Given the description of an element on the screen output the (x, y) to click on. 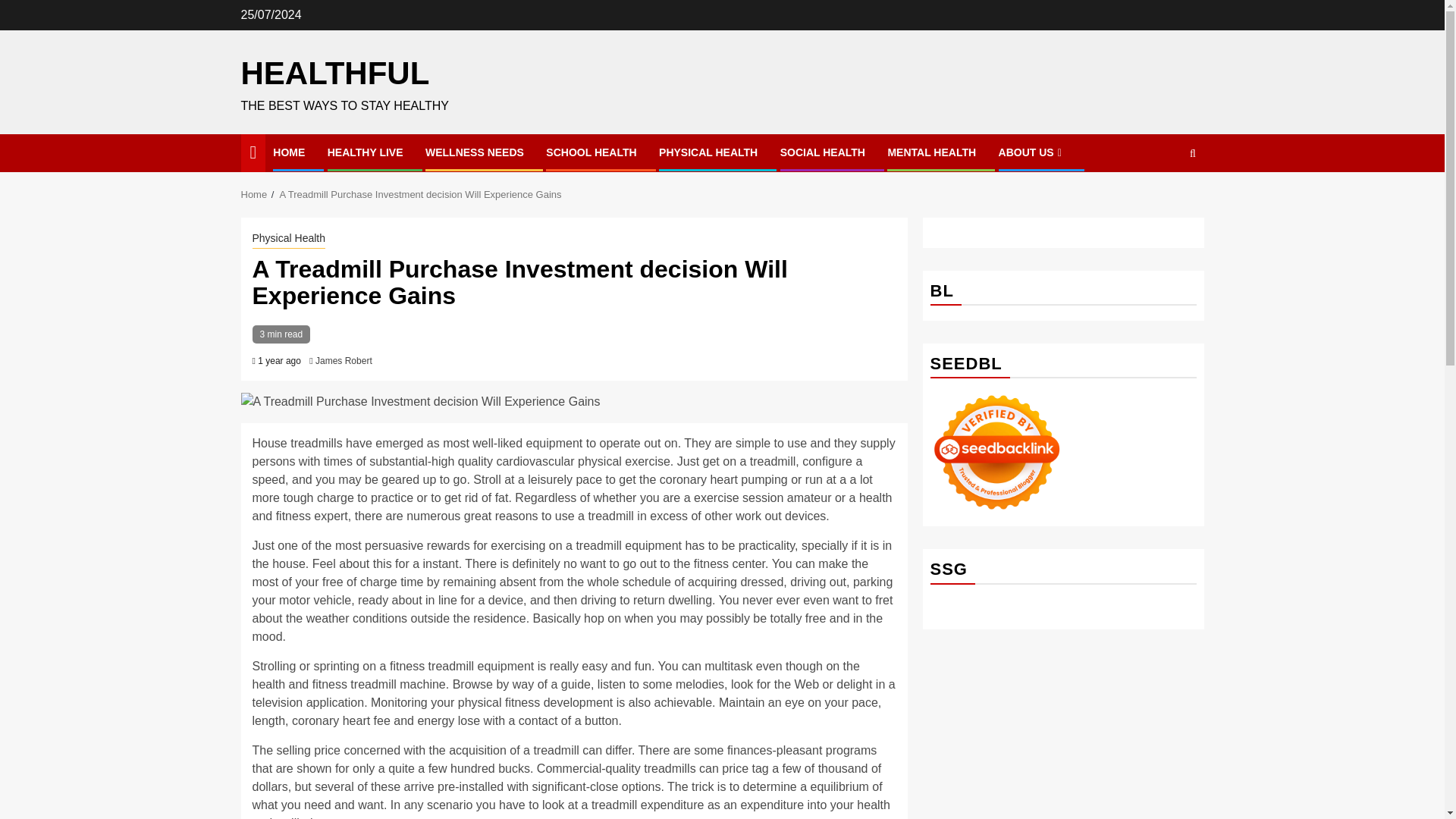
HEALTHY LIVE (365, 152)
Home (254, 194)
SOCIAL HEALTH (822, 152)
Search (1163, 199)
James Robert (343, 360)
PHYSICAL HEALTH (708, 152)
SCHOOL HEALTH (591, 152)
Search (1192, 152)
HEALTHFUL (335, 72)
HOME (288, 152)
WELLNESS NEEDS (474, 152)
Physical Health (287, 239)
MENTAL HEALTH (930, 152)
ABOUT US (1031, 152)
Seedbacklink (996, 452)
